Given the description of an element on the screen output the (x, y) to click on. 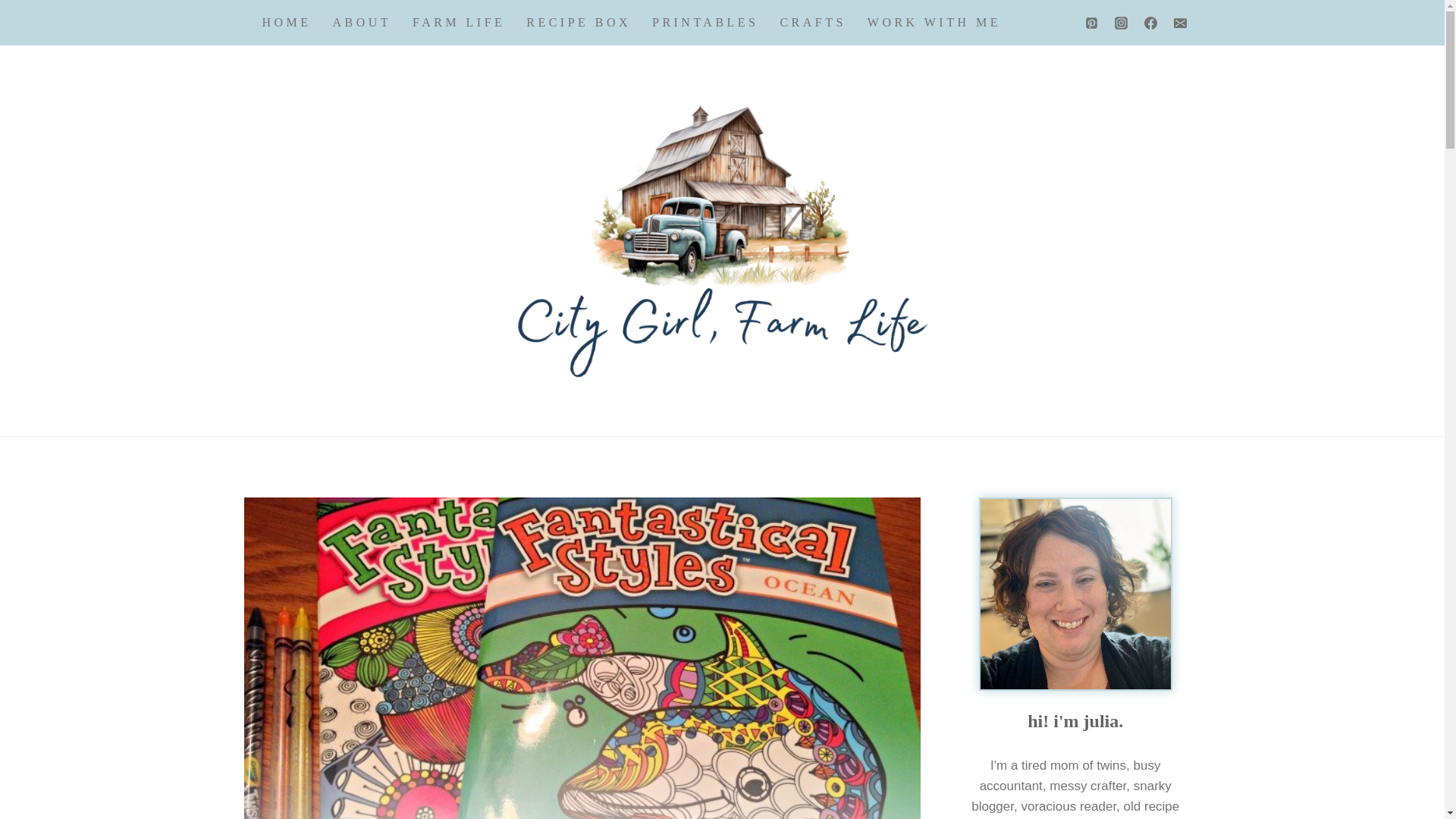
HOME (286, 22)
CRAFTS (812, 22)
RECIPE BOX (578, 22)
PRINTABLES (705, 22)
FARM LIFE (458, 22)
WORK WITH ME (934, 22)
ABOUT (362, 22)
